Given the description of an element on the screen output the (x, y) to click on. 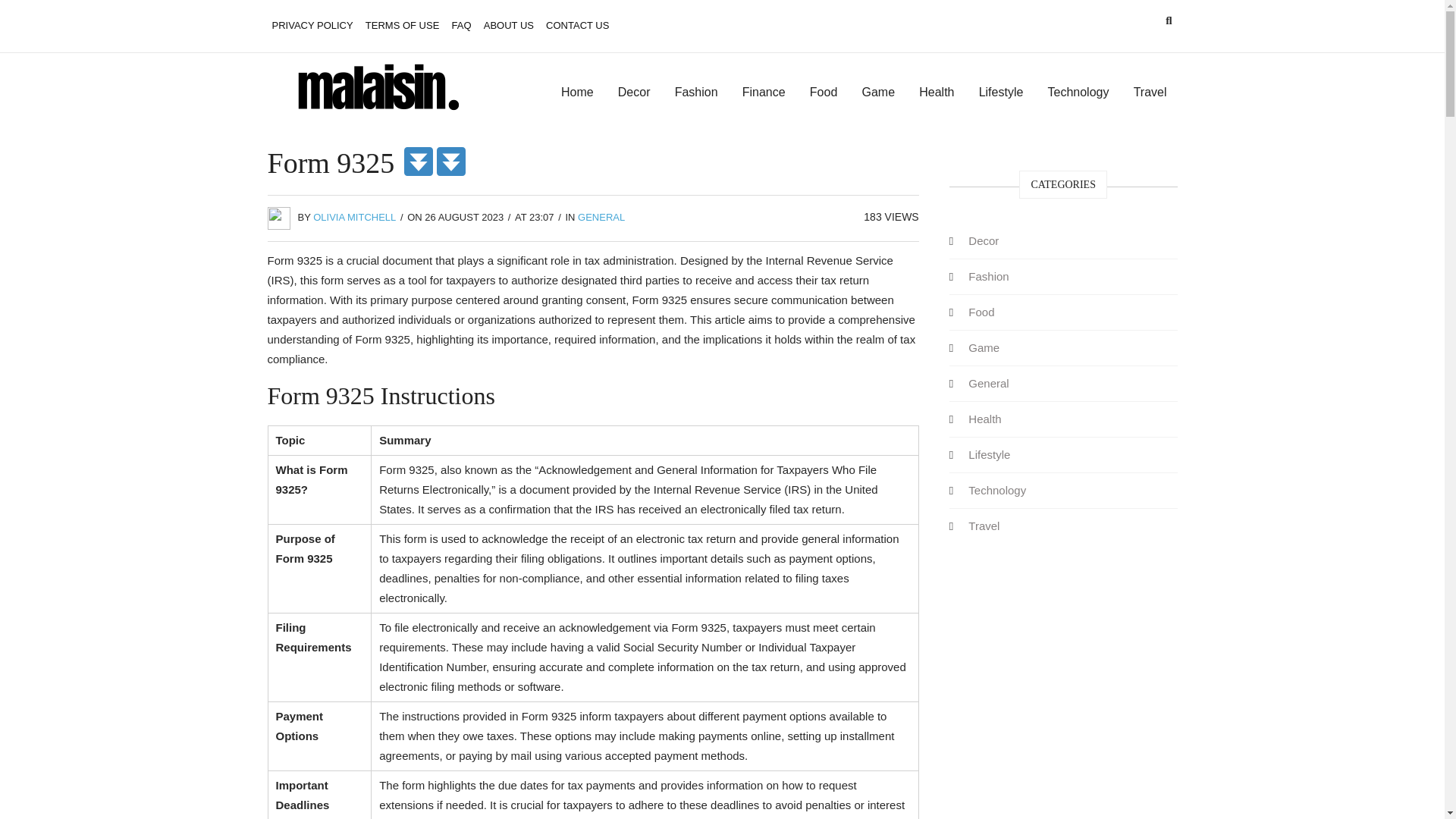
FAQ (461, 25)
Food (823, 92)
Posts by Olivia Mitchell (354, 216)
GENERAL (601, 216)
General (988, 382)
ABOUT US (508, 25)
CONTACT US (576, 25)
Fashion (988, 276)
TERMS OF USE (402, 25)
Fashion (696, 92)
